Given the description of an element on the screen output the (x, y) to click on. 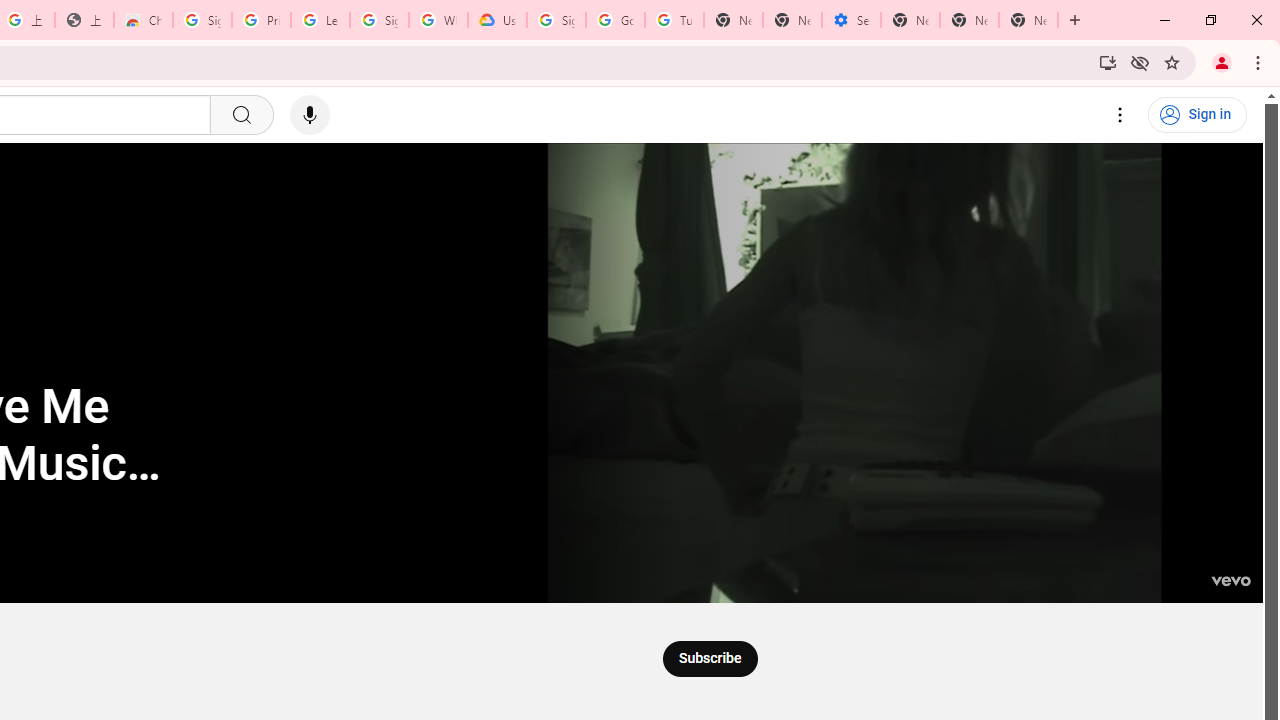
Sign in - Google Accounts (556, 20)
New Tab (1028, 20)
Who are Google's partners? - Privacy and conditions - Google (438, 20)
Settings (1119, 115)
Subscribe to Music. (709, 658)
Channel watermark (1230, 570)
Sign in - Google Accounts (379, 20)
